Given the description of an element on the screen output the (x, y) to click on. 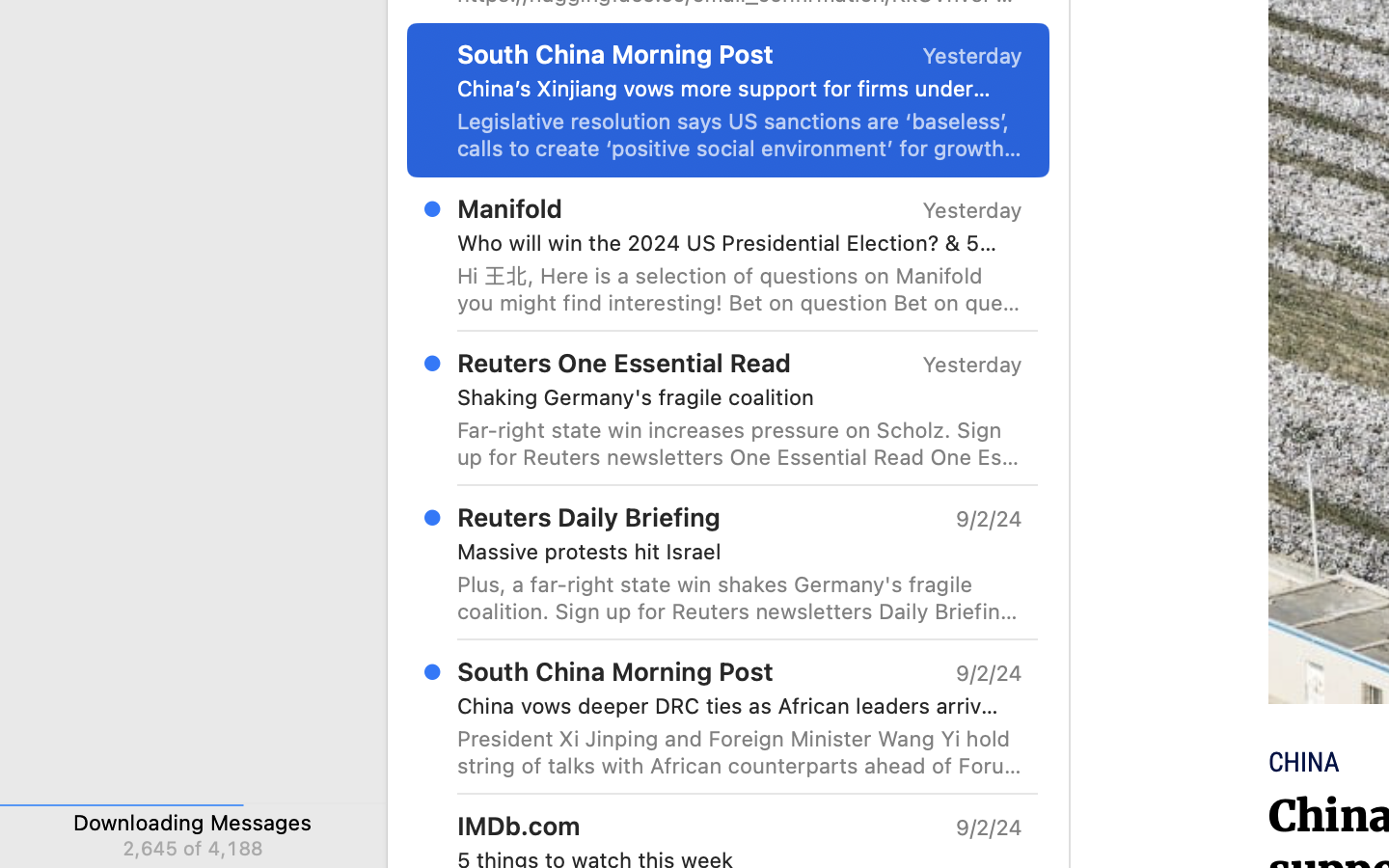
Yesterday Element type: AXStaticText (972, 364)
Reuters One Essential Read Element type: AXStaticText (623, 362)
Reuters Daily Briefing Element type: AXStaticText (589, 516)
Far-right state win increases pressure on Scholz. Sign up for Reuters newsletters One Essential Read One Essential Read Recommended by Edson Caldas, Newsletter Editor Pressure mounts on Scholz Right-wing Alternative for Germany top candidate Bjoern Hoecke on the day of the Thuringia state election. REUTERS/Wolfgang Rattay The Alternative for Germany is on track to become the first far-right party to win a regional election in Germany since World War Two, dealing a blow to parties in Chancellor Olaf Scholz's government. The results are likely to aggravate instability in an already fractious ruling coalition, Chief Correspondent Sarah Marsh reports. The German government's faltering authority could also complicate European policy when the bloc's other major power France is still struggling to form a government. Read the full article Sponsors are not involved in the creation of newsletters or other Reuters news content. Advertise in this newsletter or on Reuters.com Reuters One Essential R Element type: AXStaticText (739, 443)
Massive protests hit Israel Element type: AXStaticText (731, 551)
